Given the description of an element on the screen output the (x, y) to click on. 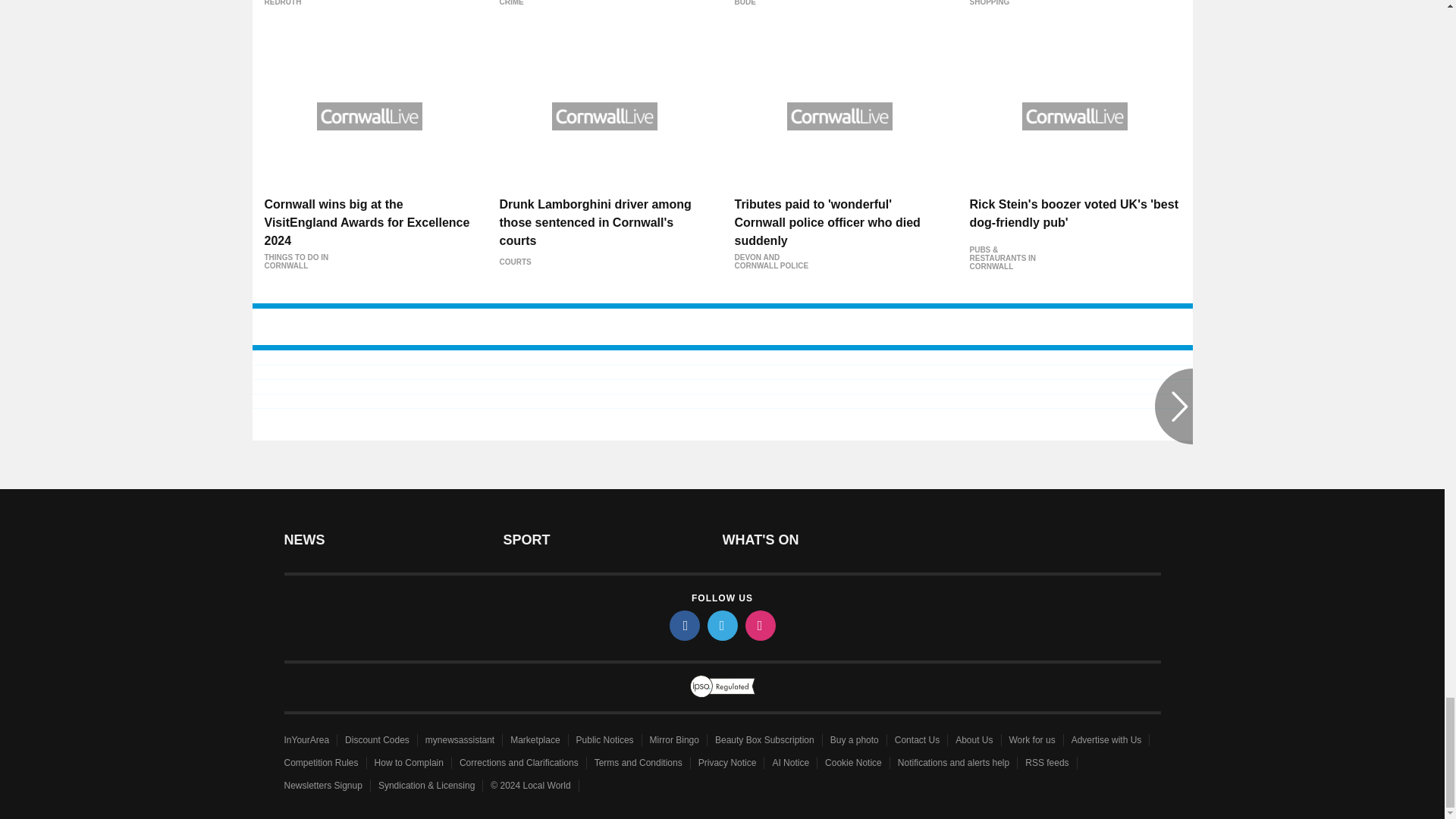
facebook (683, 625)
twitter (721, 625)
instagram (759, 625)
